Given the description of an element on the screen output the (x, y) to click on. 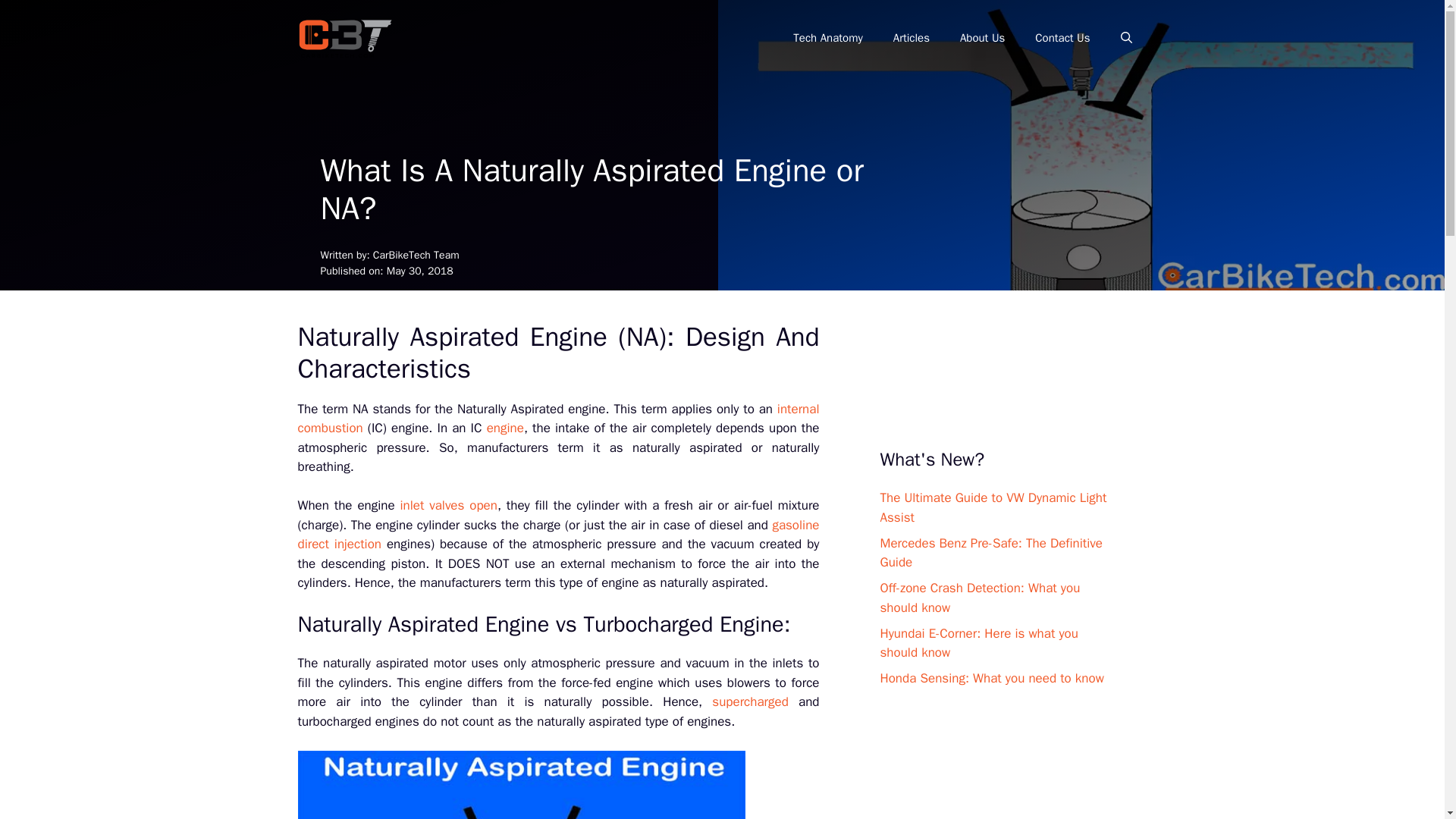
Hyundai E-Corner: Here is what you should know (978, 642)
Mercedes Benz Pre-Safe: The Definitive Guide (990, 552)
supercharged (750, 701)
Contact Us (1062, 37)
Articles (910, 37)
Honda Sensing: What you need to know (991, 678)
inlet valves open (447, 505)
Tech Anatomy (827, 37)
internal combustion (557, 418)
gasoline direct injection (557, 534)
